Given the description of an element on the screen output the (x, y) to click on. 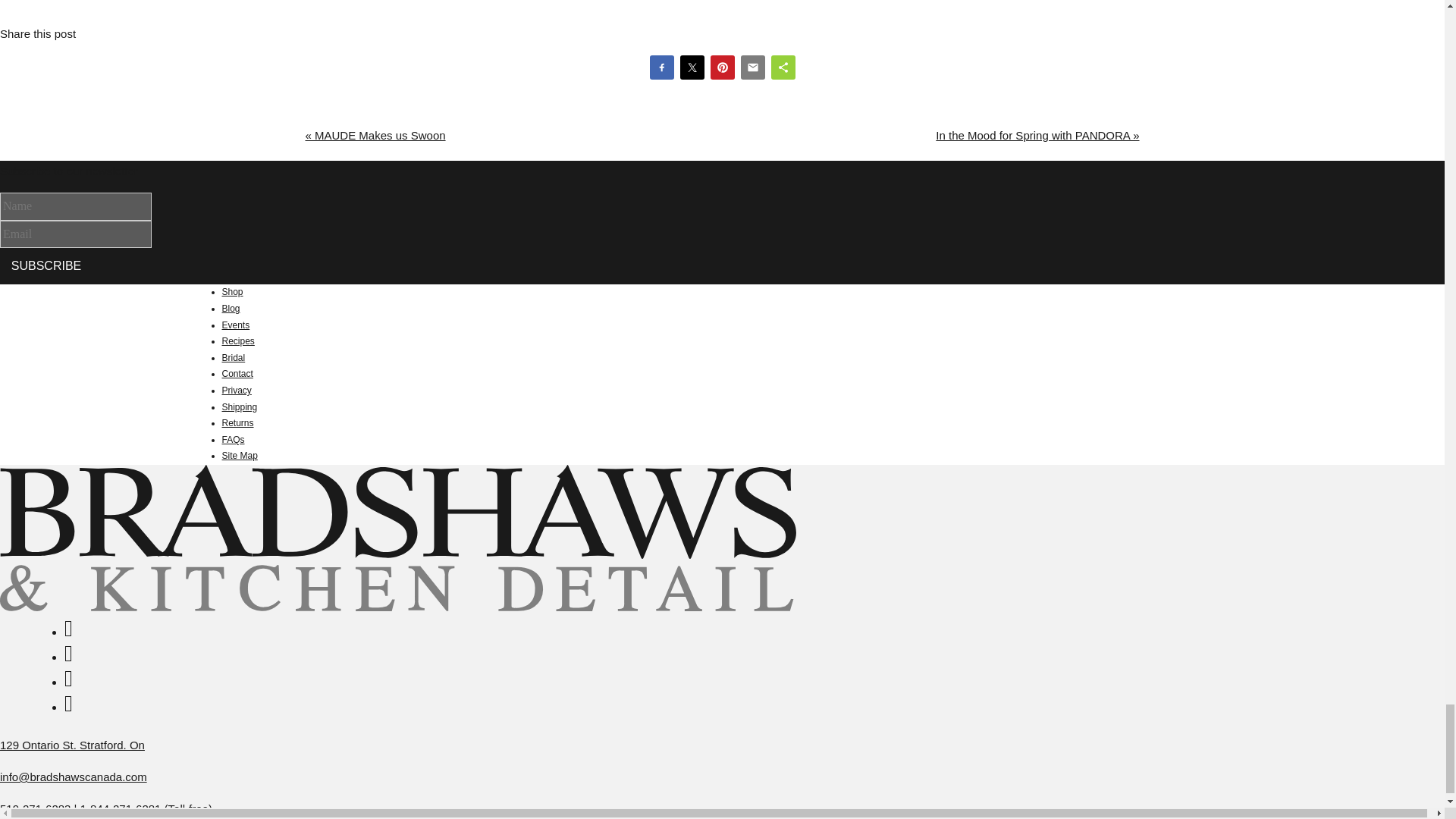
Subscribe (46, 266)
